Given the description of an element on the screen output the (x, y) to click on. 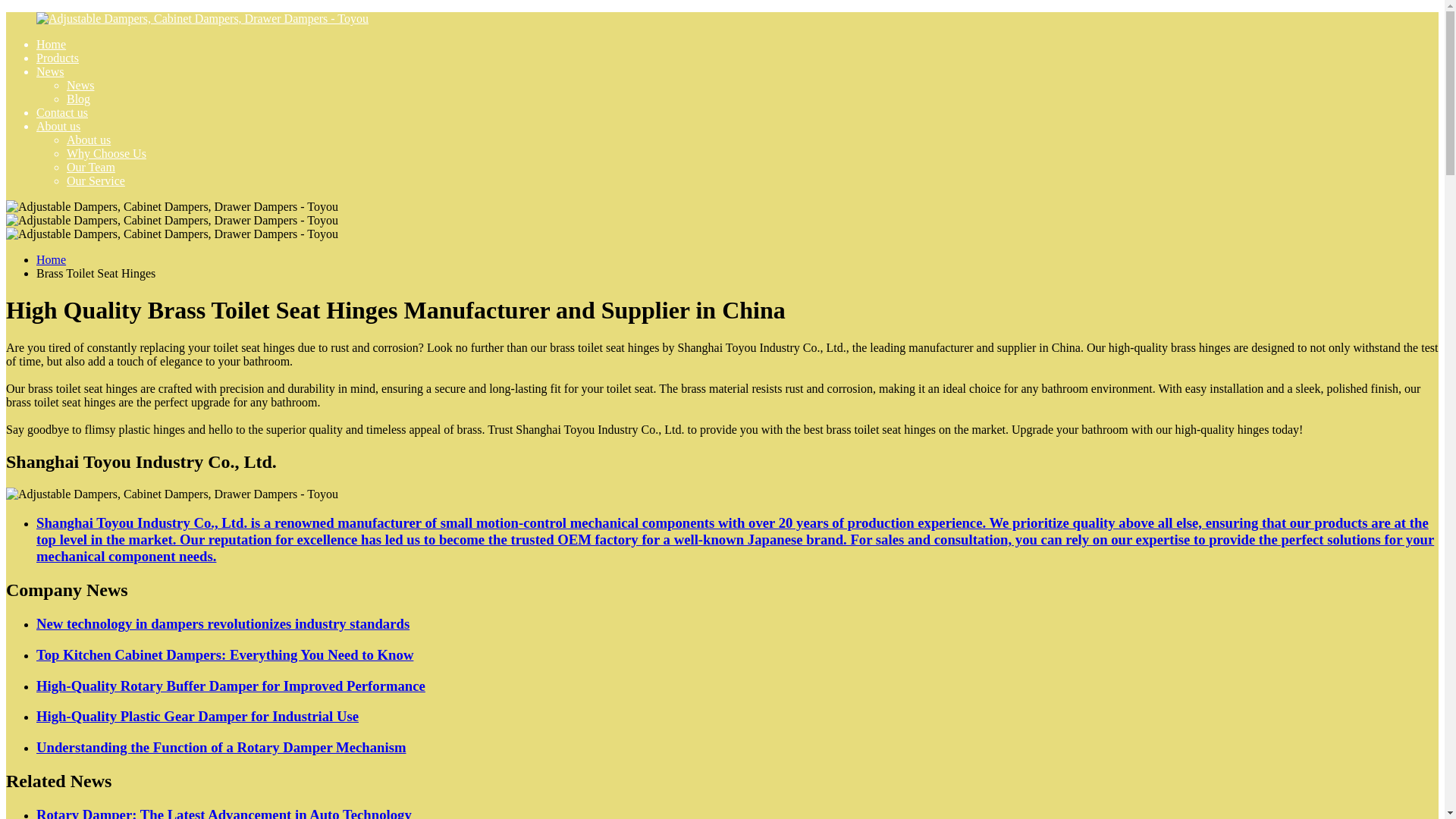
Blog (78, 98)
Our Team (90, 166)
Contact us (61, 112)
Home (50, 259)
News (50, 71)
About us (88, 139)
About us (58, 125)
Our Service (95, 180)
Products (57, 57)
Home (50, 43)
Why Choose Us (106, 153)
News (80, 84)
